Given the description of an element on the screen output the (x, y) to click on. 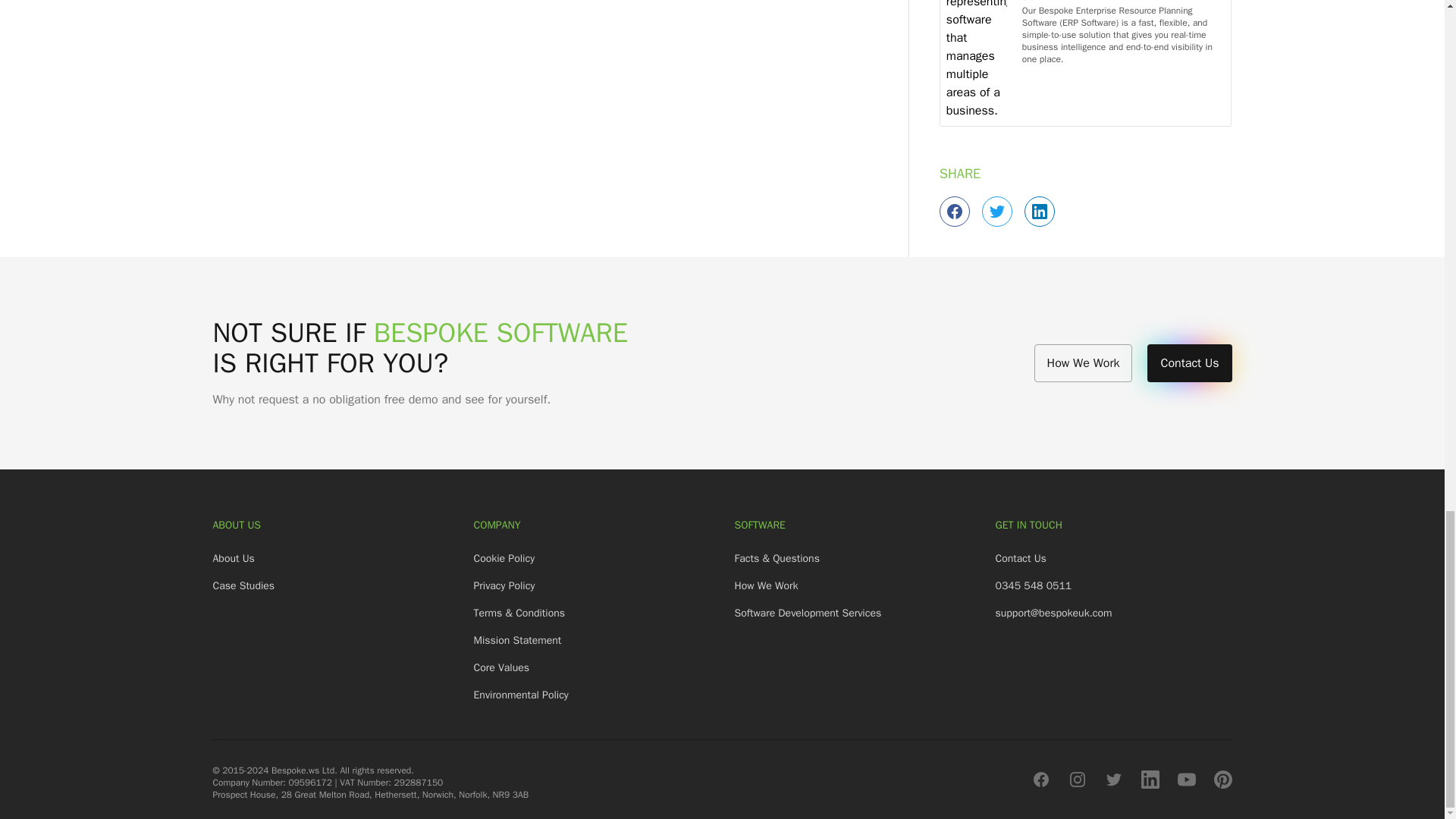
Share on Twitter (996, 211)
ENTERPRISE RESOURCE PLANNING SOFTWARE (1123, 1)
Contact Us (1189, 362)
Case Studies (243, 585)
Share on Facebook (954, 211)
Cookie Policy (503, 558)
About Us (232, 558)
Share on Linkedin (1039, 211)
How We Work (1082, 362)
